Given the description of an element on the screen output the (x, y) to click on. 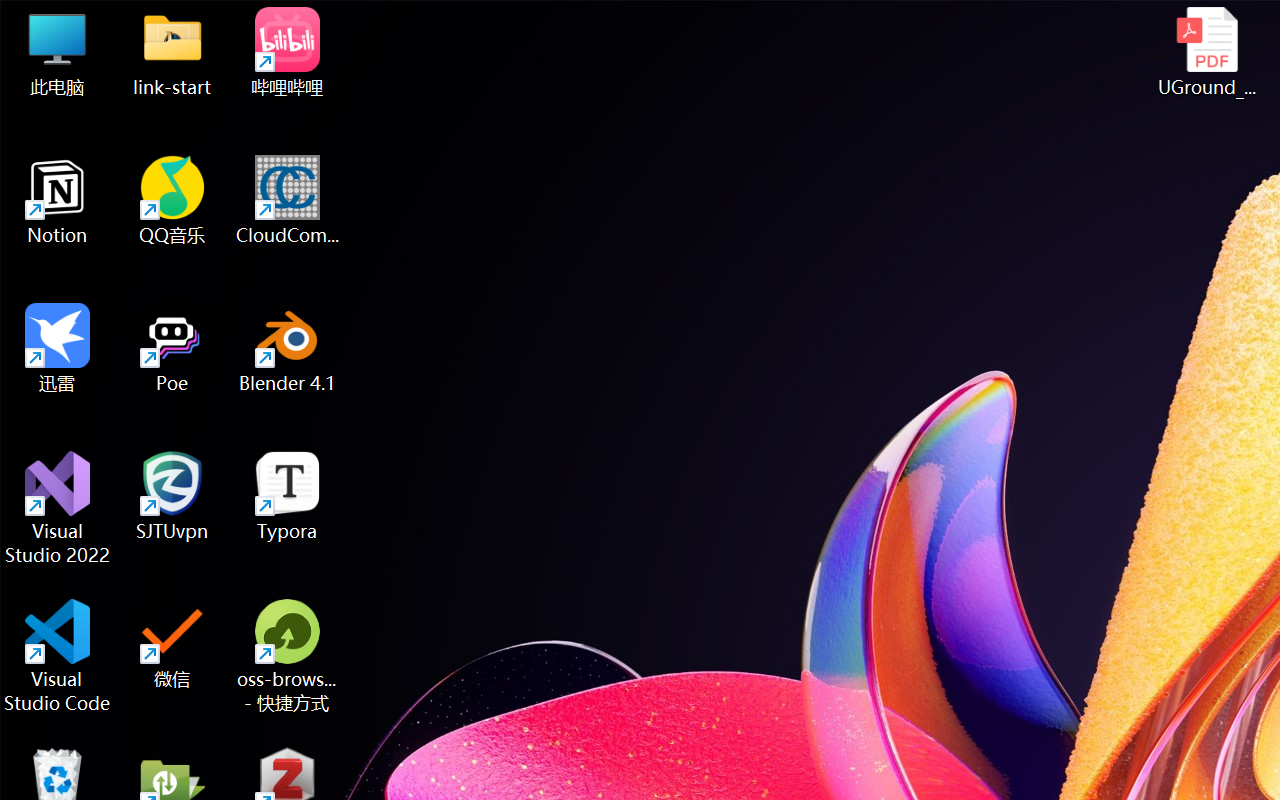
Poe (172, 348)
UGround_paper.pdf (1206, 52)
Visual Studio 2022 (57, 508)
Blender 4.1 (287, 348)
Typora (287, 496)
Notion (57, 200)
CloudCompare (287, 200)
Visual Studio Code (57, 656)
SJTUvpn (172, 496)
